Given the description of an element on the screen output the (x, y) to click on. 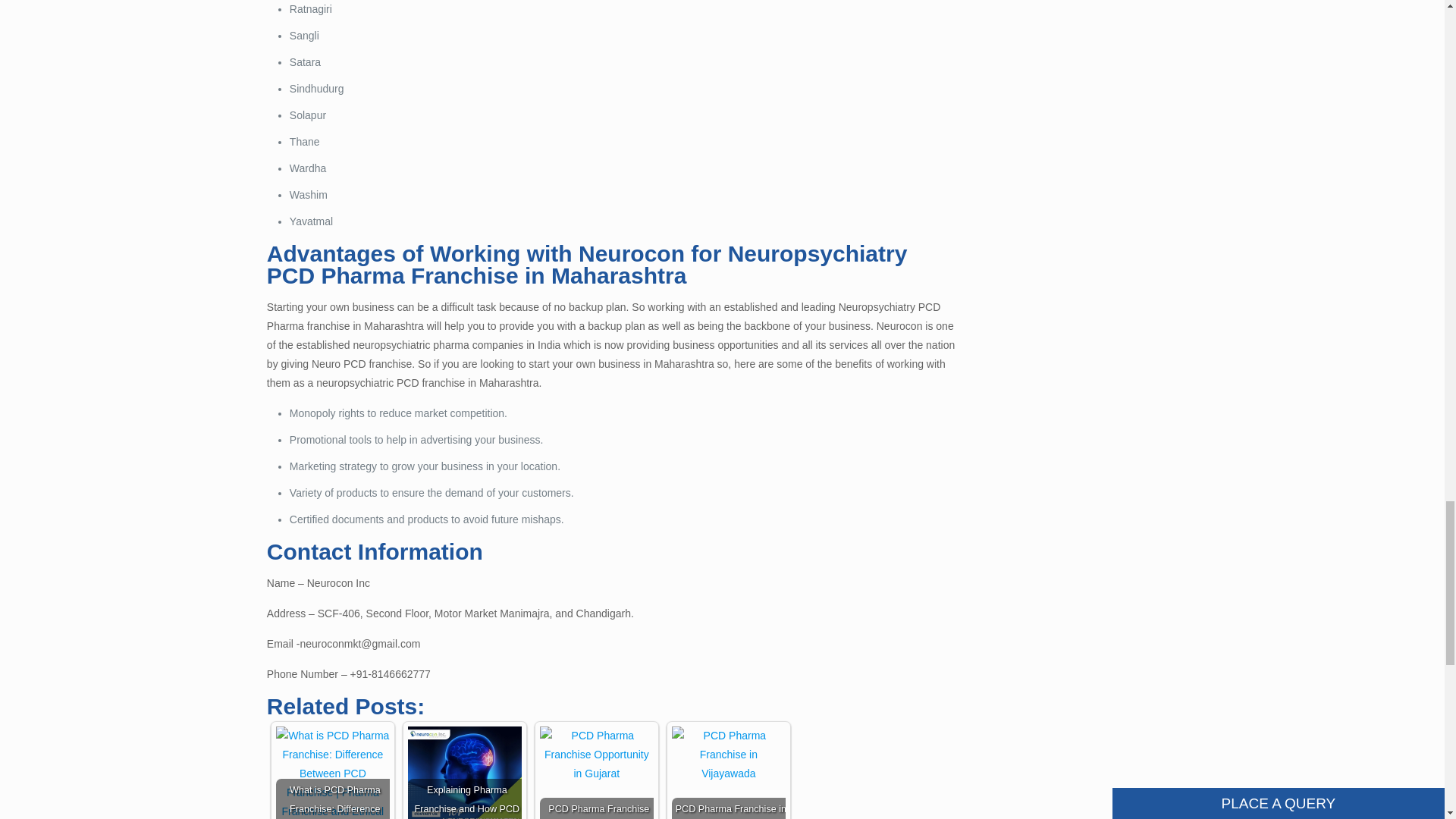
PCD Pharma Franchise in Vijayawada (728, 754)
PCD Pharma Franchise Opportunity in Gujarat (596, 754)
